Given the description of an element on the screen output the (x, y) to click on. 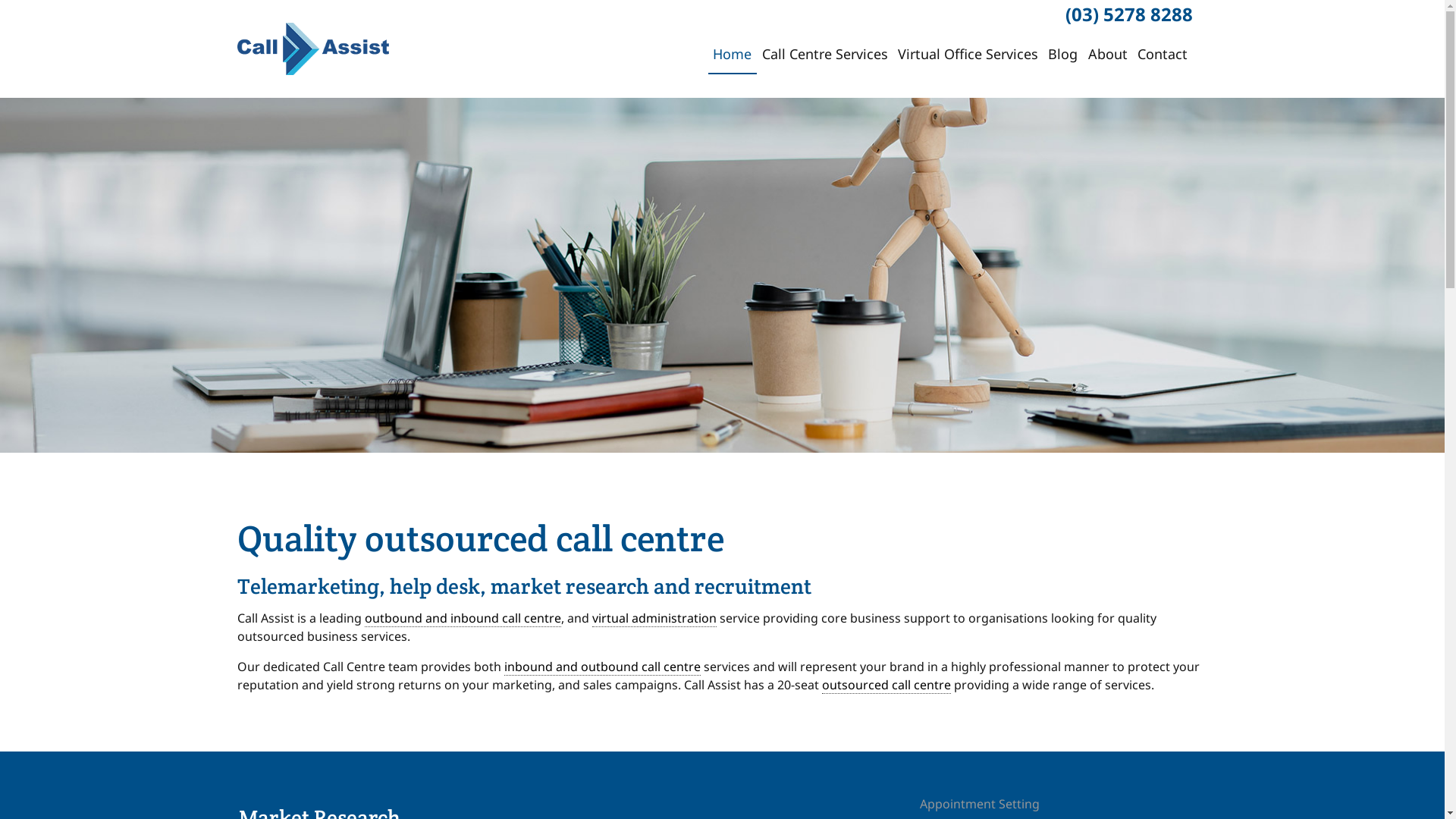
Call Centre Services Element type: text (824, 53)
Blog Element type: text (1062, 53)
Virtual Office Services Element type: text (967, 53)
outsourced call centre Element type: text (886, 684)
outbound and inbound call centre Element type: text (462, 618)
About Element type: text (1107, 53)
Home Element type: text (732, 53)
Contact Element type: text (1162, 53)
inbound and outbound call centre Element type: text (601, 666)
virtual administration Element type: text (653, 618)
